Given the description of an element on the screen output the (x, y) to click on. 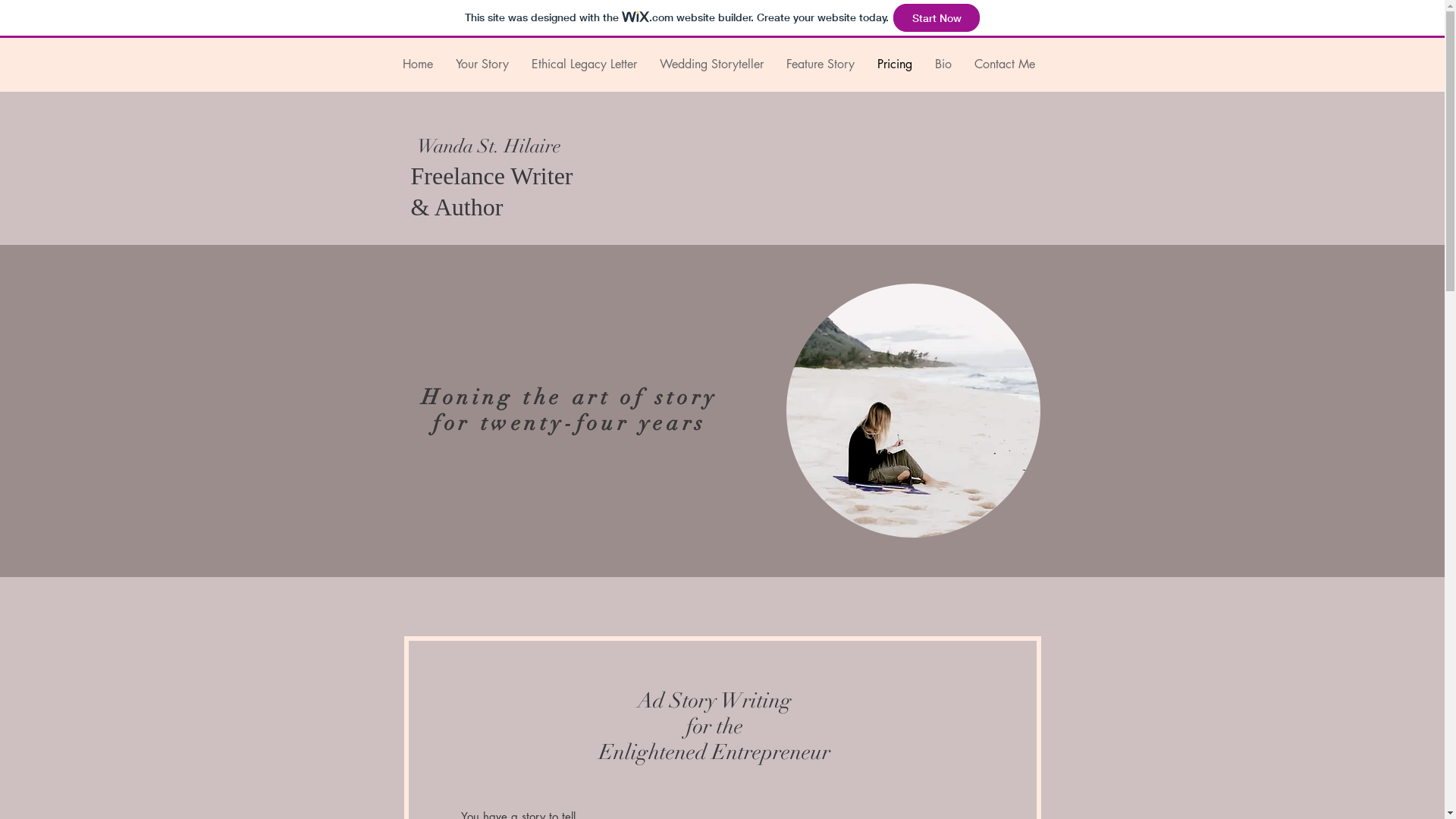
Pricing Element type: text (894, 64)
Your Story Element type: text (482, 64)
Wedding Storyteller Element type: text (710, 64)
Ethical Legacy Letter Element type: text (584, 64)
Working at the Beach Element type: hover (912, 410)
Bio Element type: text (943, 64)
Home Element type: text (417, 64)
Contact Me Element type: text (1004, 64)
Feature Story Element type: text (820, 64)
